Given the description of an element on the screen output the (x, y) to click on. 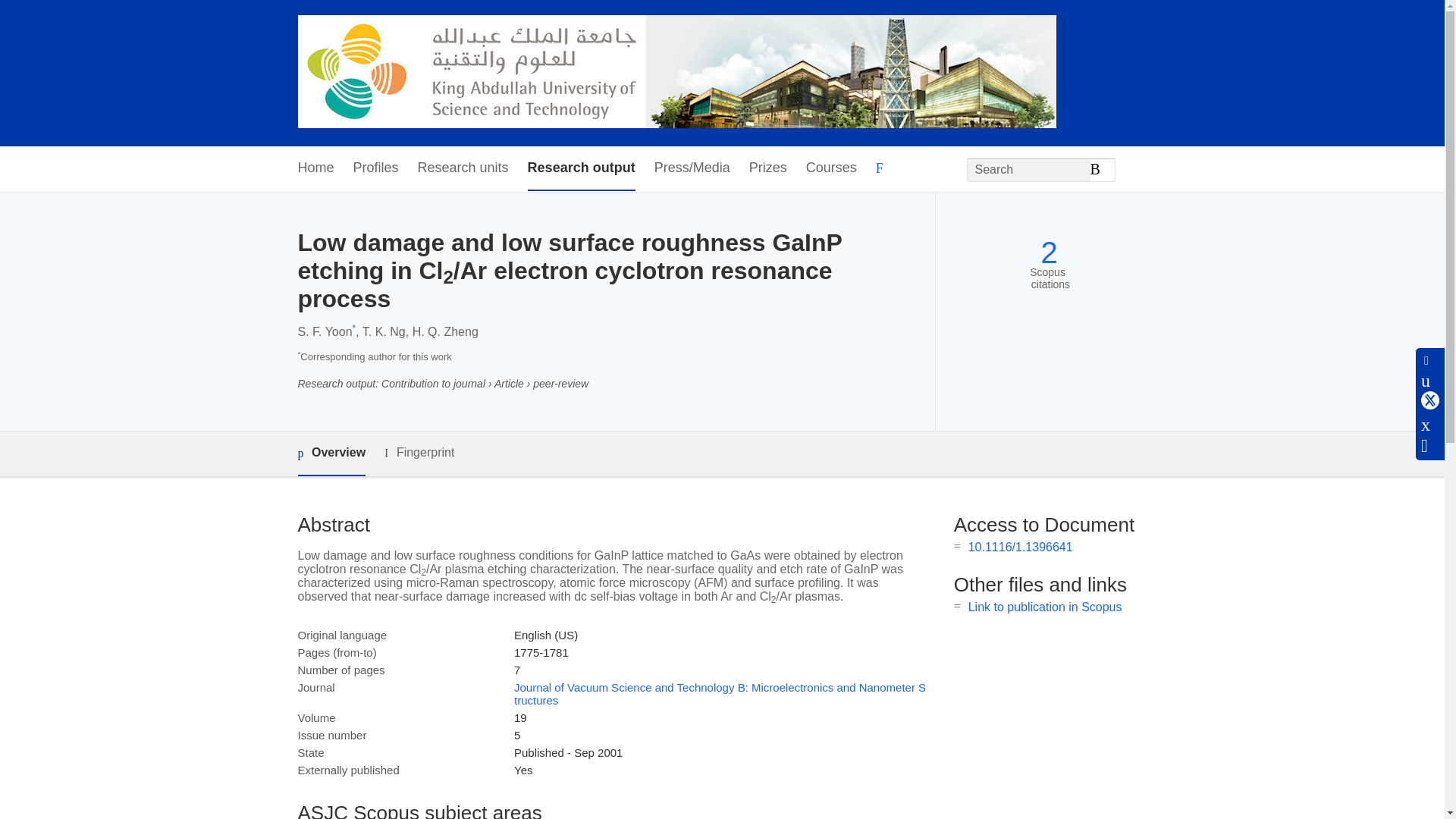
Fingerprint (419, 453)
Profiles (375, 168)
Courses (831, 168)
Link to publication in Scopus (1045, 606)
KAUST FACULTY PORTAL Home (676, 73)
Overview (331, 453)
Research units (462, 168)
Research output (580, 168)
